Given the description of an element on the screen output the (x, y) to click on. 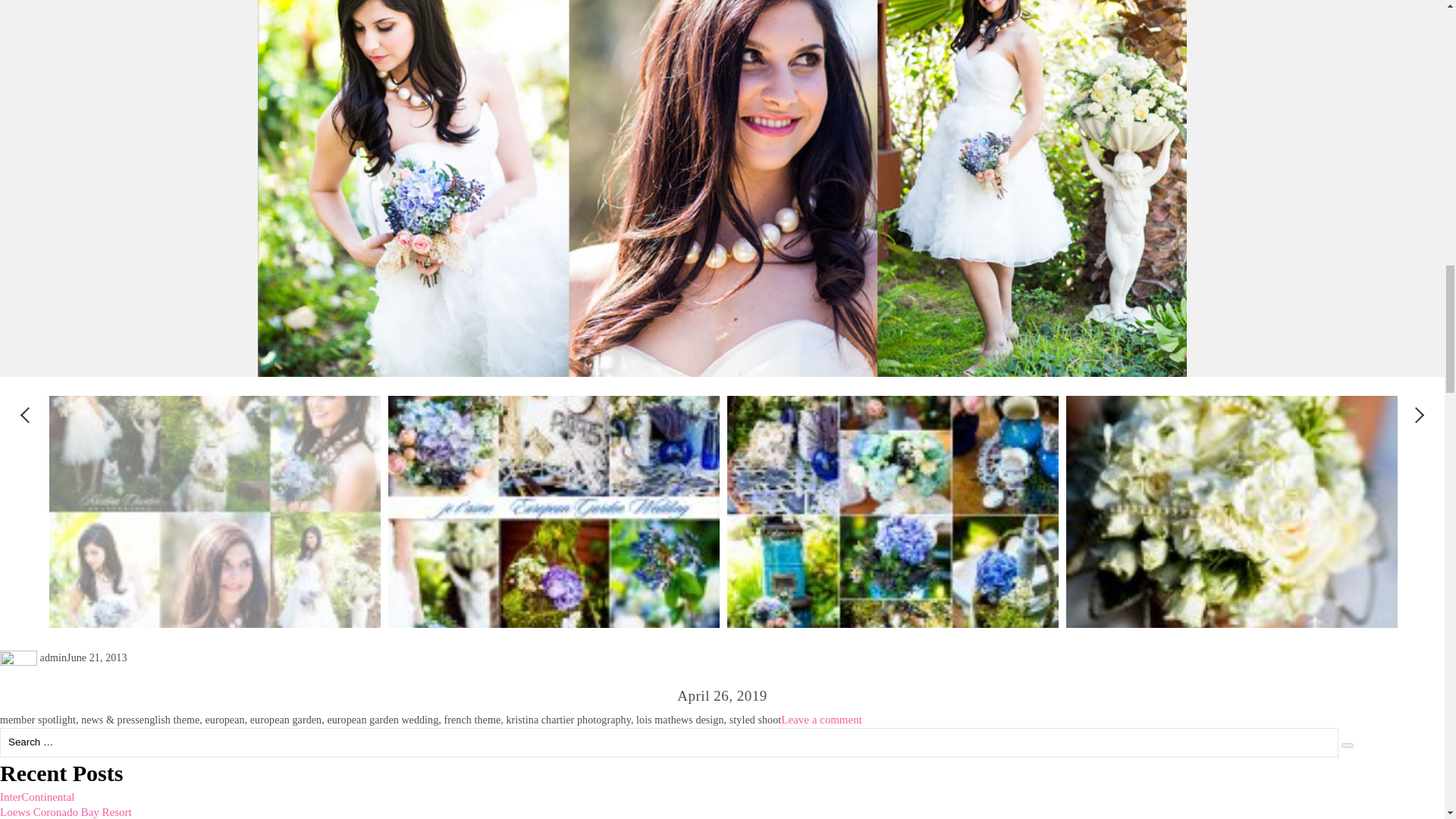
Next (1413, 412)
european (224, 719)
Previous (26, 412)
admin (53, 657)
english theme (169, 719)
member spotlight (37, 719)
